Given the description of an element on the screen output the (x, y) to click on. 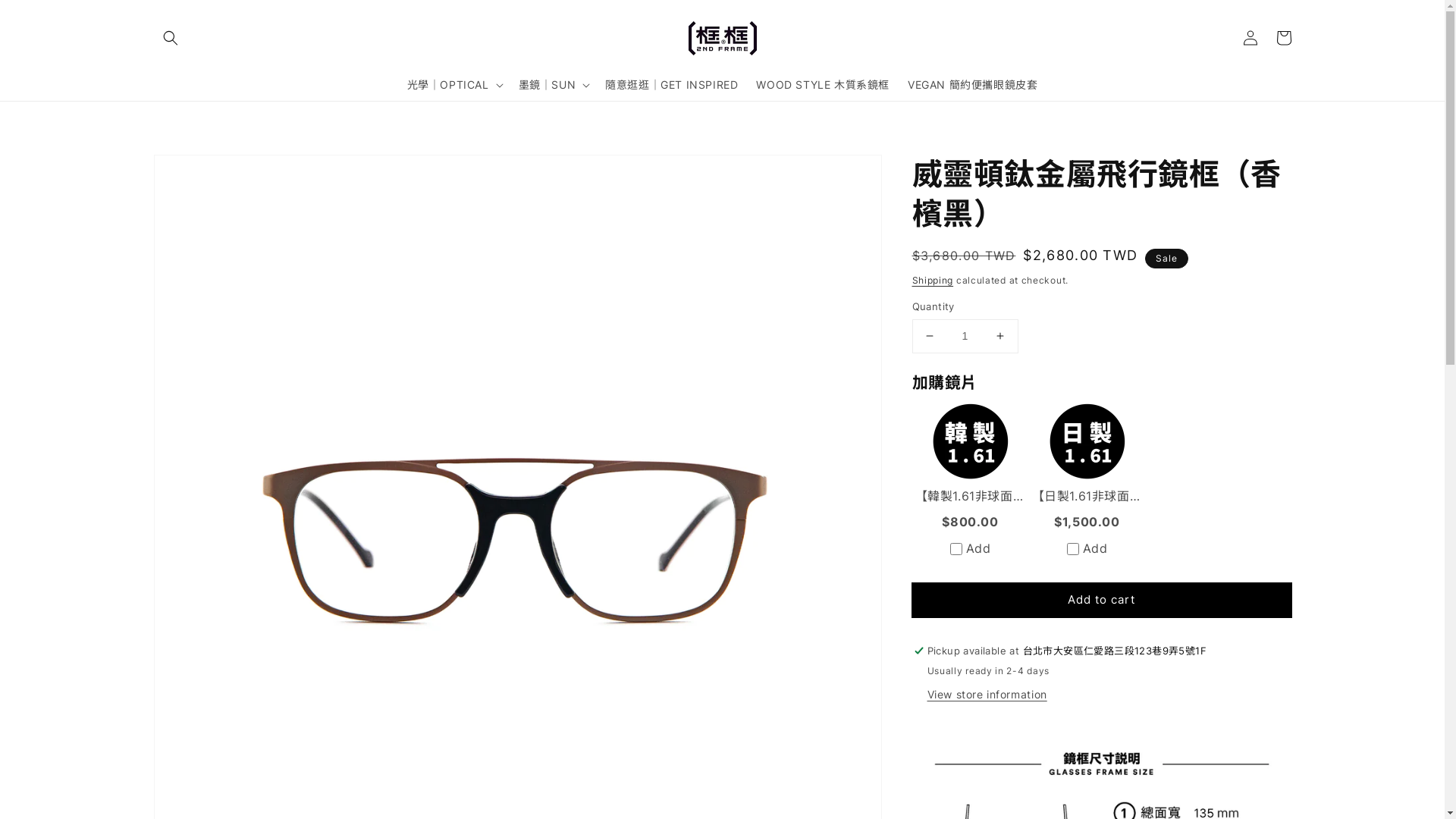
Add to cart Element type: text (1100, 600)
View store information Element type: text (986, 694)
Log in Element type: text (1249, 37)
Cart Element type: text (1282, 37)
Skip to product information Element type: text (198, 170)
Shipping Element type: text (932, 279)
